Given the description of an element on the screen output the (x, y) to click on. 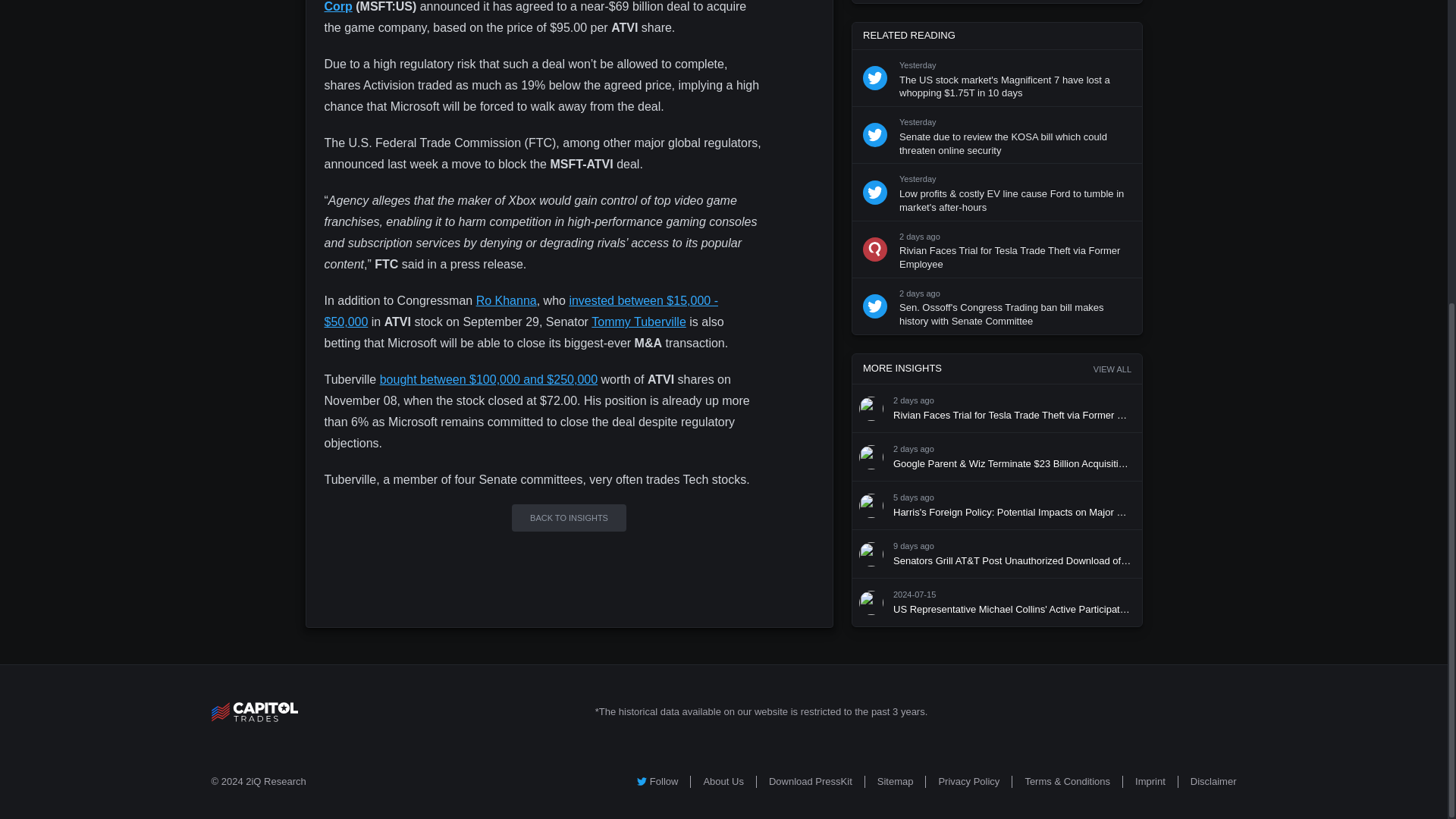
2024-07-25 04:19:42 (919, 293)
2024-07-25 11:59:43 (913, 399)
2024-07-26 11:41:47 (917, 122)
2024-07-18 06:46:22 (913, 545)
VIEW ALL (1112, 367)
2024-07-26 11:52:45 (917, 65)
Tommy Tuberville (638, 321)
2024-07-24 15:52:38 (913, 448)
2024-07-15 13:40:42 (914, 593)
Microsoft Corp (530, 6)
Ro Khanna (506, 300)
